Given the description of an element on the screen output the (x, y) to click on. 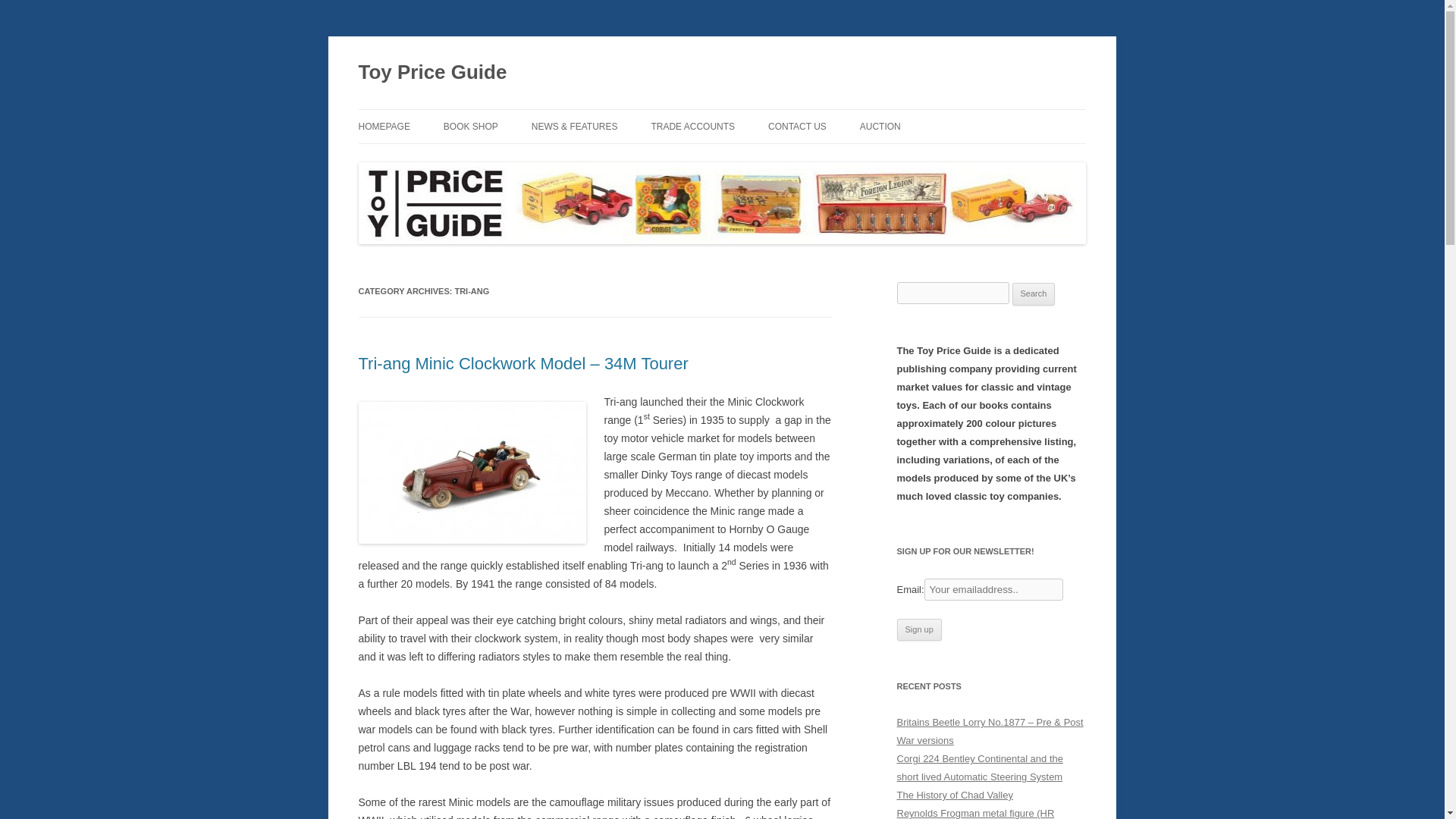
Sign up (918, 630)
BOOK SHOP (470, 126)
Toy Price Guide (432, 72)
CONTACT US (797, 126)
Tri-ang Minic Clockwork Toy 34M Tourer (471, 472)
Toy Price Guide (432, 72)
HOMEPAGE (383, 126)
Search (1033, 293)
AUCTION (880, 126)
